Given the description of an element on the screen output the (x, y) to click on. 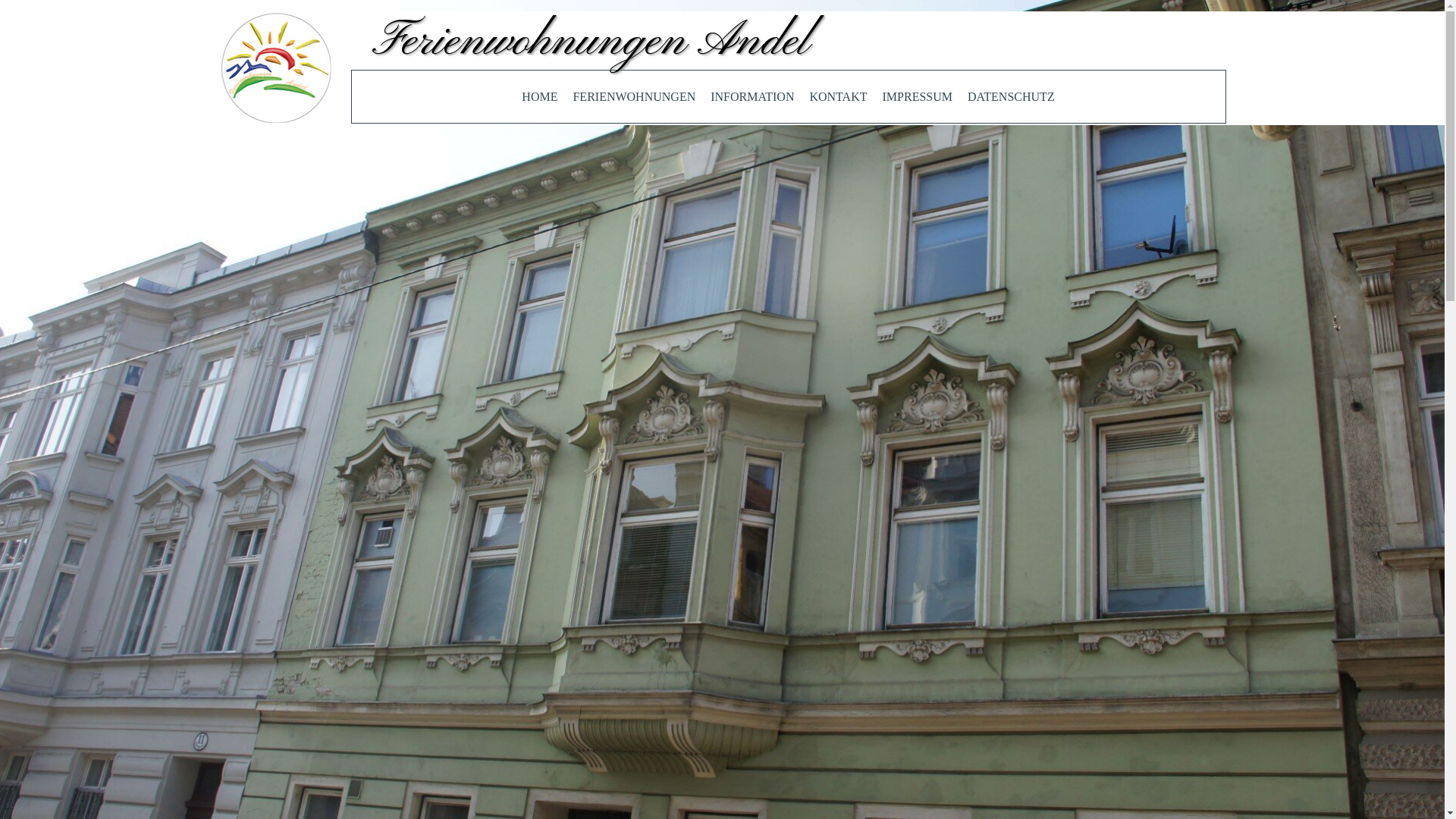
HOME Element type: text (539, 96)
IMPRESSUM Element type: text (917, 96)
KONTAKT Element type: text (837, 96)
INFORMATION Element type: text (751, 96)
DATENSCHUTZ Element type: text (1010, 96)
Logo Ferienwohnungen Andel Element type: hover (276, 67)
